Given the description of an element on the screen output the (x, y) to click on. 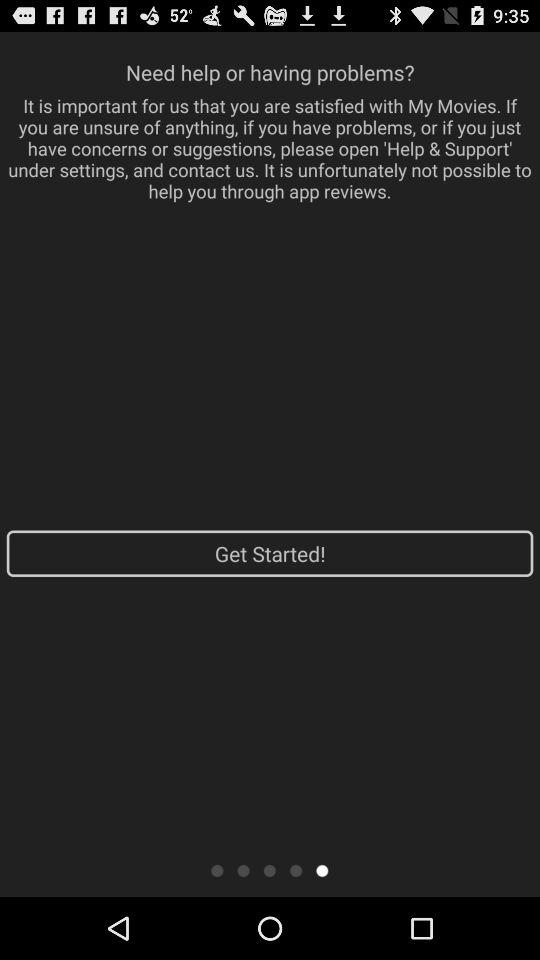
go to second panel (243, 870)
